Given the description of an element on the screen output the (x, y) to click on. 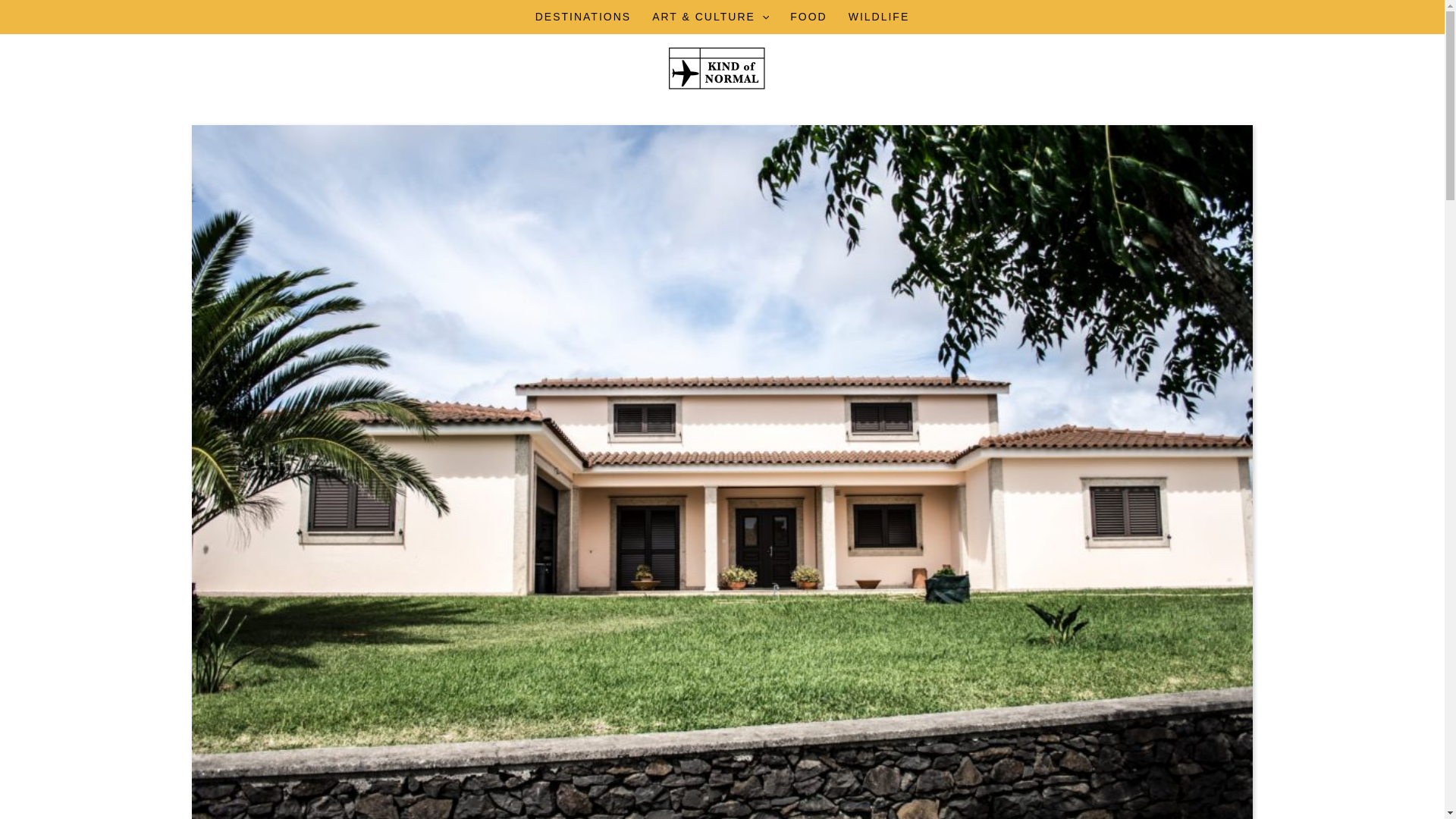
DESTINATIONS (583, 17)
WILDLIFE (879, 17)
FOOD (807, 17)
